Given the description of an element on the screen output the (x, y) to click on. 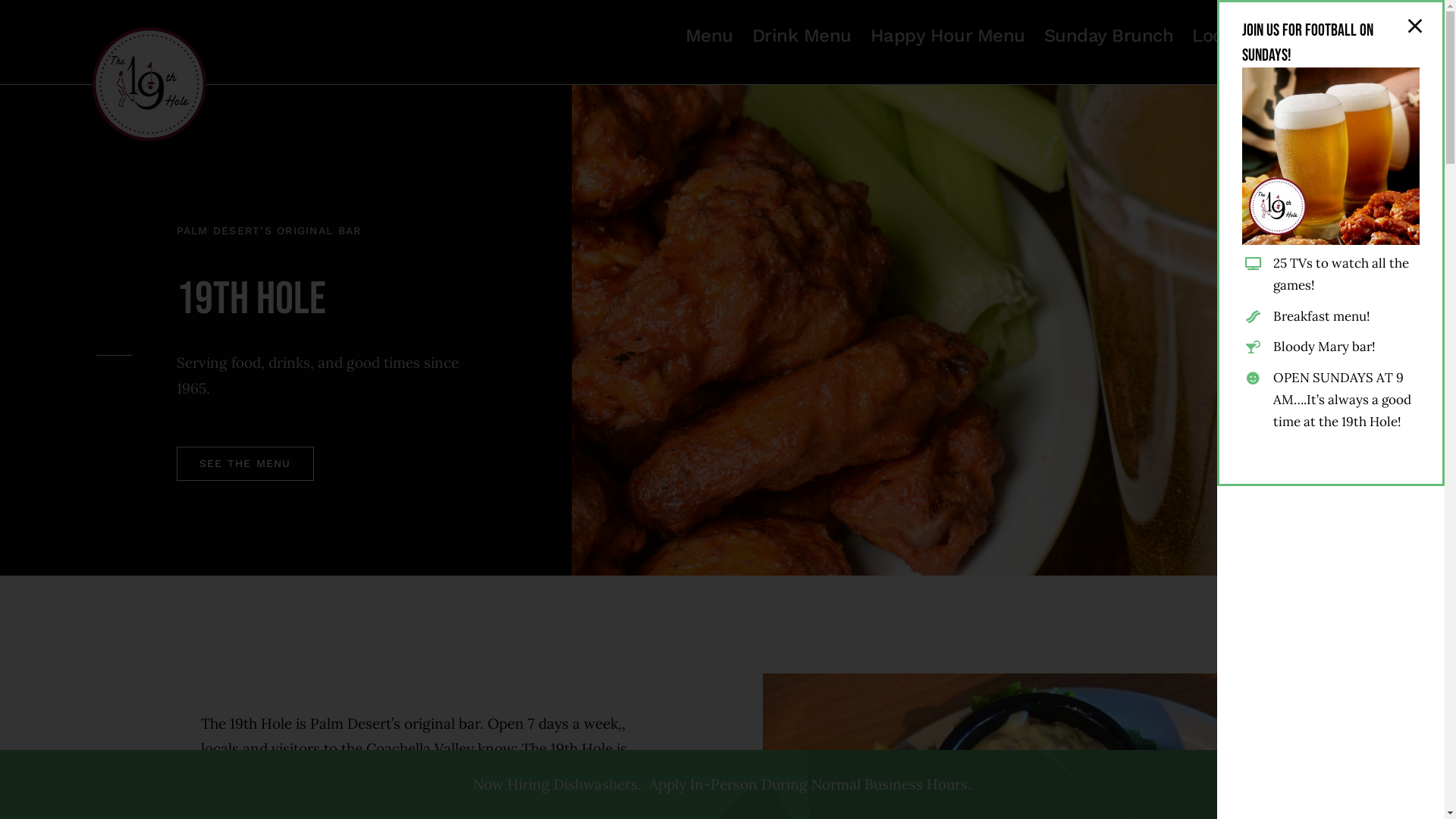
Happy Hour Menu Element type: text (947, 35)
Location | Hours Element type: text (1262, 35)
Menu Element type: text (709, 35)
SEE THE MENU Element type: text (244, 463)
Football Photo 19th Hole Element type: hover (1330, 155)
beer wings 2 Element type: hover (1007, 329)
Sunday Brunch Element type: text (1108, 35)
Drink Menu Element type: text (801, 35)
